Given the description of an element on the screen output the (x, y) to click on. 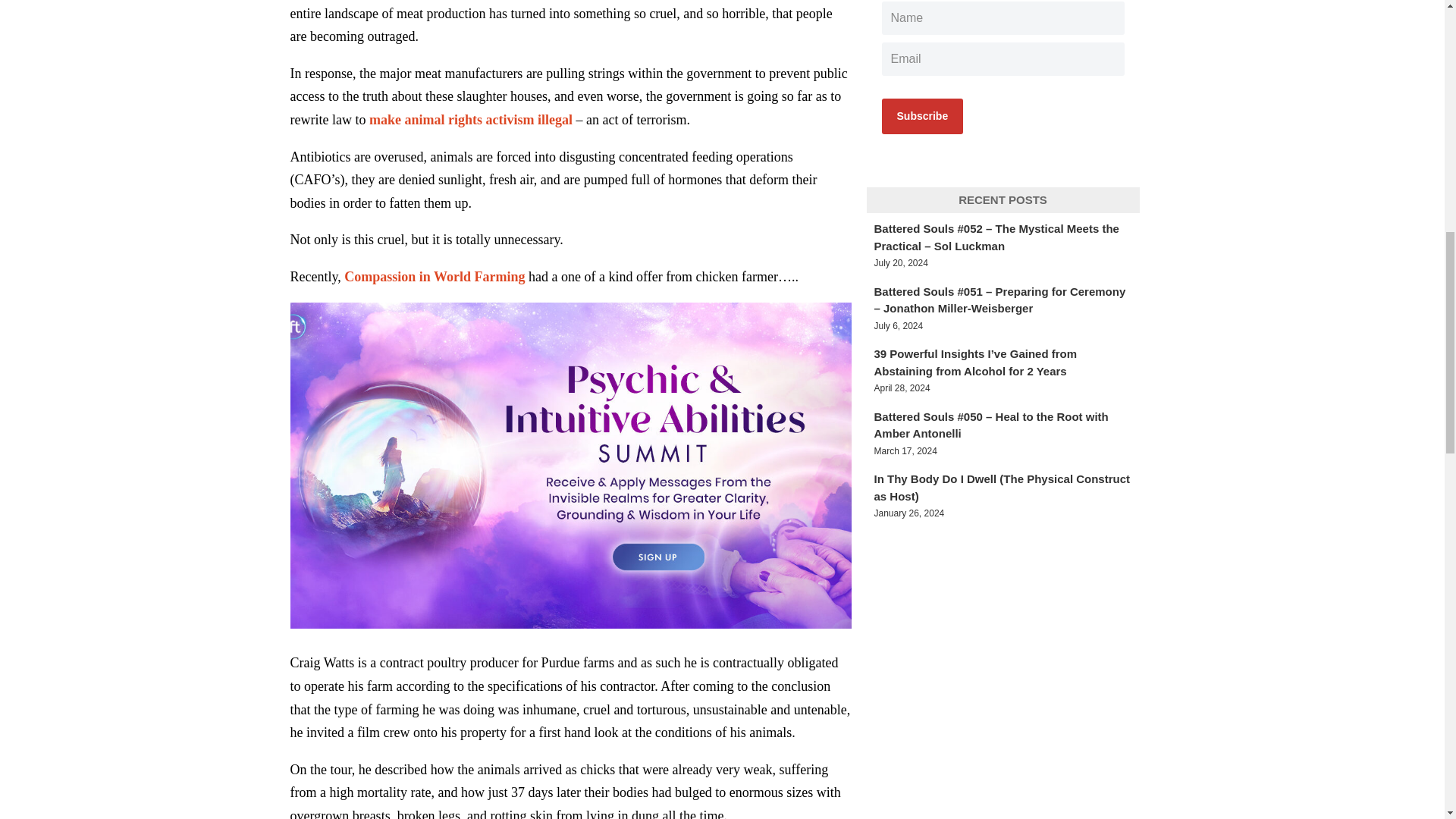
Compassion in World Farming (433, 276)
make animal rights activism illegal (468, 119)
Subscribe (921, 116)
